Given the description of an element on the screen output the (x, y) to click on. 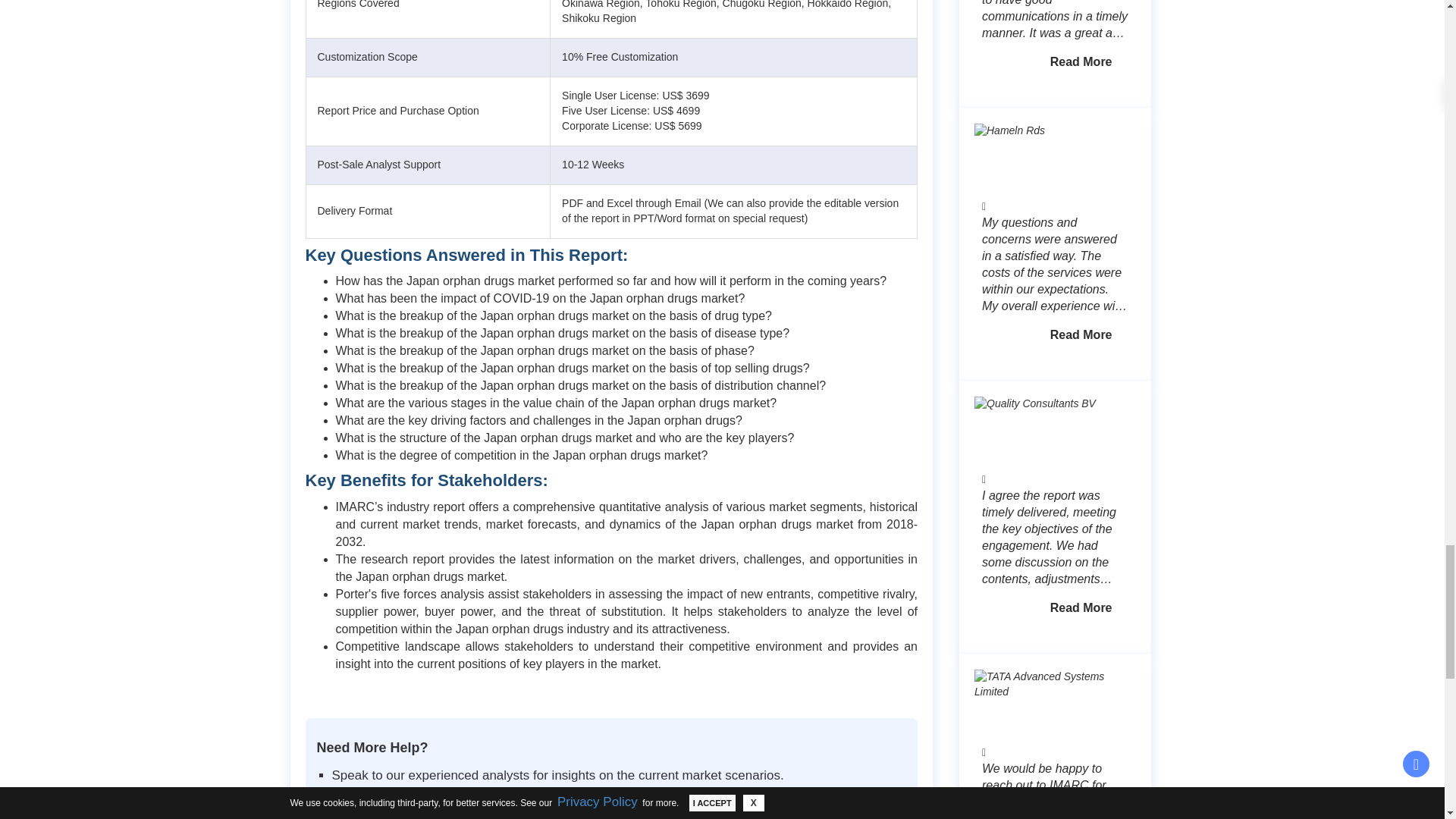
Know more (1081, 61)
Know more (1081, 607)
Know more (1081, 334)
